Given the description of an element on the screen output the (x, y) to click on. 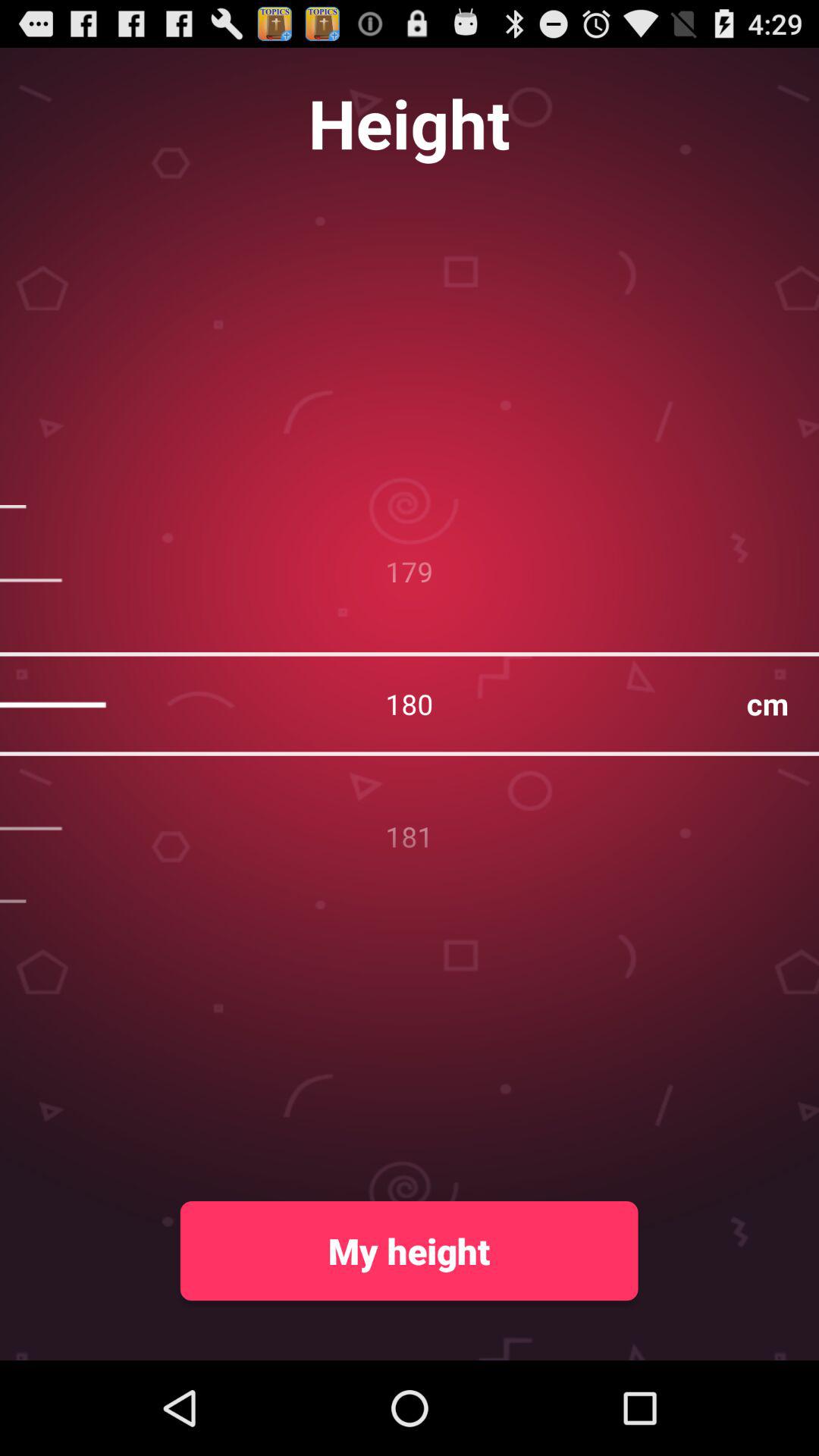
select the 180 icon (409, 703)
